Given the description of an element on the screen output the (x, y) to click on. 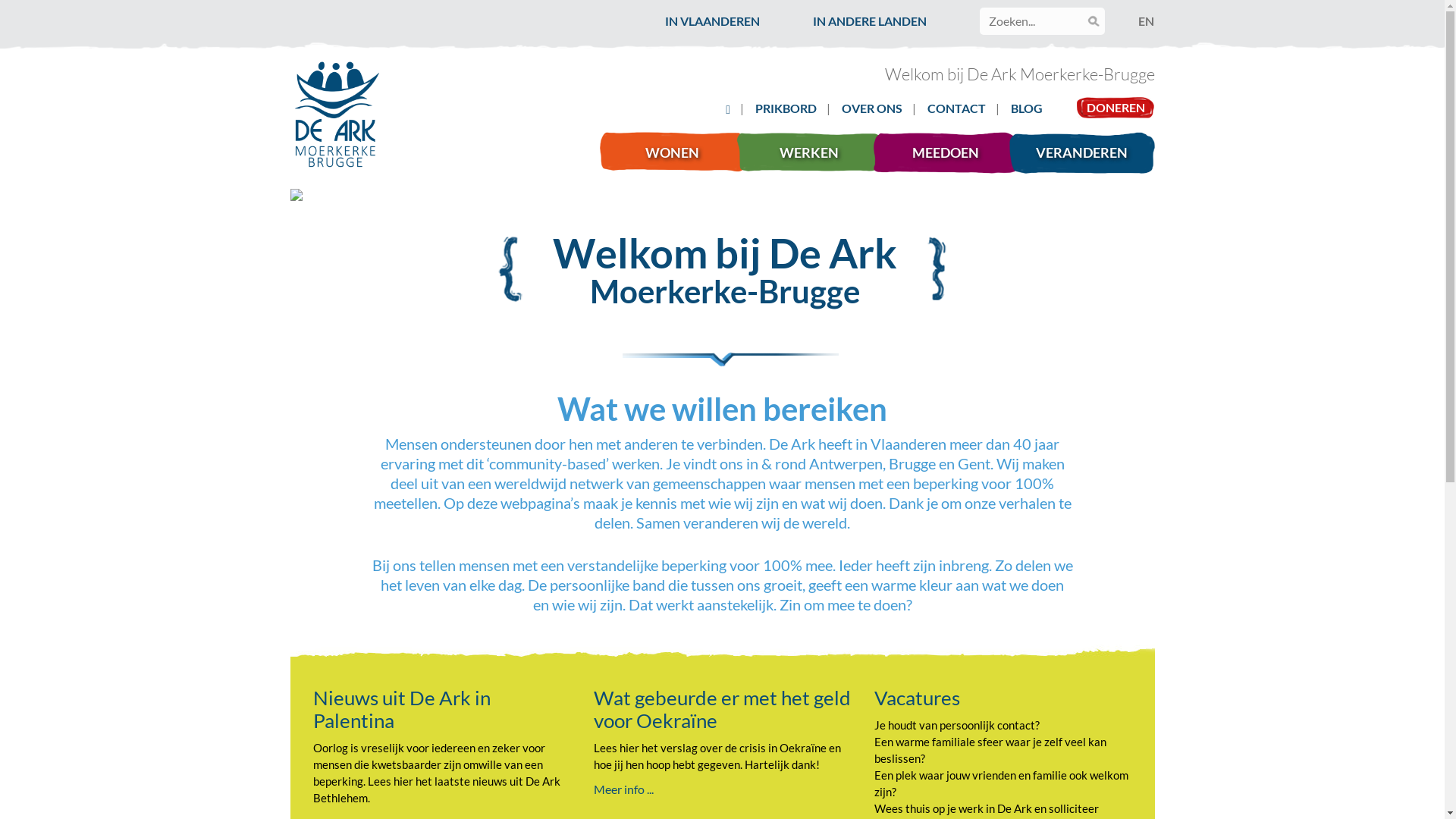
Meer info ... Element type: text (622, 788)
OVER ONS Element type: text (871, 107)
WONEN Element type: text (678, 152)
IN ANDERE LANDEN Element type: text (869, 20)
Zoeken Element type: text (25, 11)
WERKEN Element type: text (814, 152)
MEEDOEN Element type: text (951, 152)
BLOG Element type: text (1026, 107)
CONTACT Element type: text (956, 107)
PRIKBORD Element type: text (785, 107)
EN Element type: text (1146, 21)
IN VLAANDEREN Element type: text (712, 20)
DONEREN Element type: text (1115, 107)
VERANDEREN Element type: text (1087, 152)
